Given the description of an element on the screen output the (x, y) to click on. 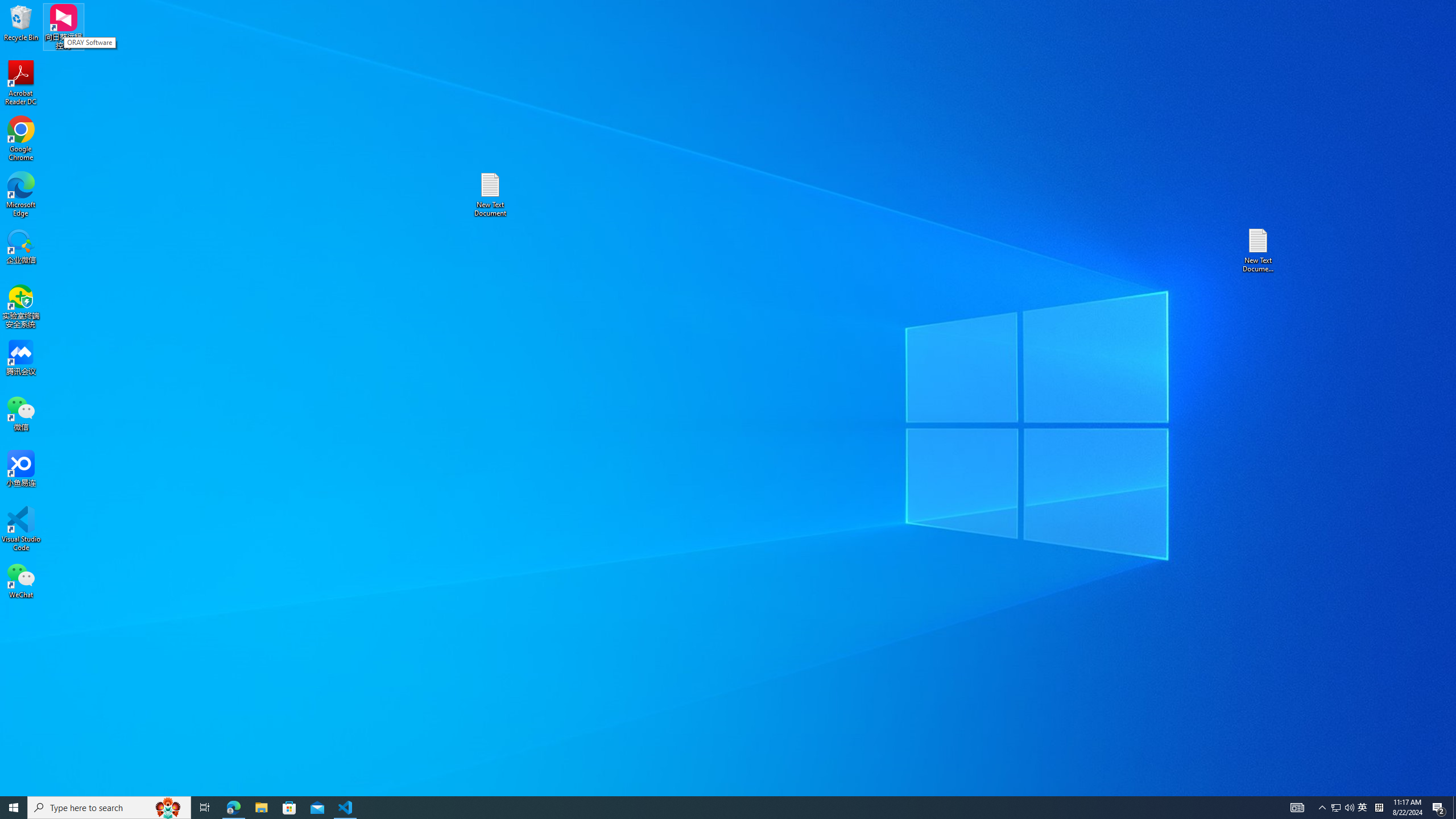
Visual Studio Code (21, 528)
Running applications (707, 807)
Q2790: 100% (1349, 807)
User Promoted Notification Area (1342, 807)
Show desktop (1454, 807)
Type here to search (108, 807)
New Text Document (2) (1258, 250)
Microsoft Edge (21, 194)
Action Center, 2 new notifications (1439, 807)
File Explorer (261, 807)
New Text Document (489, 194)
Start (13, 807)
